Given the description of an element on the screen output the (x, y) to click on. 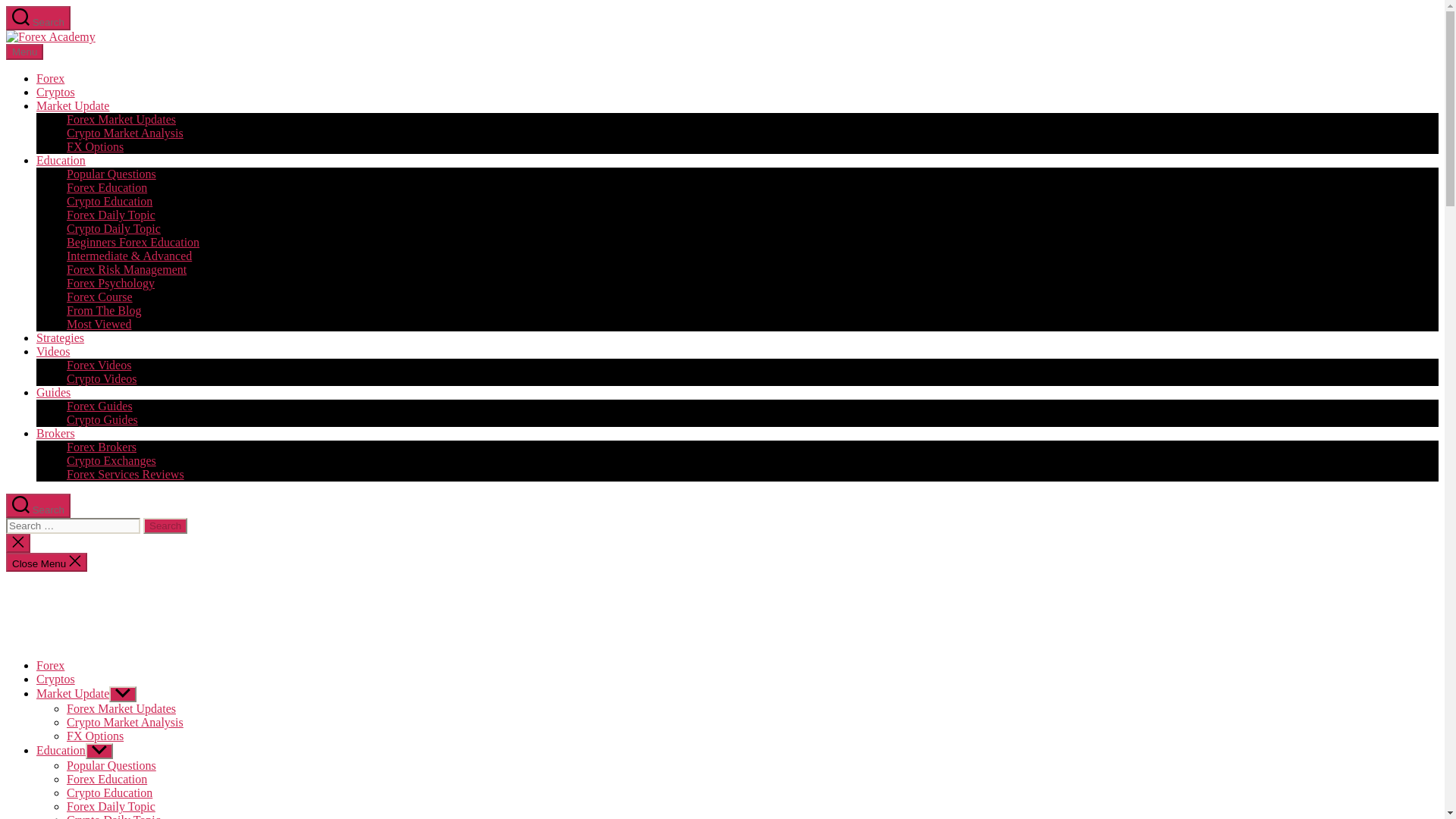
Education (60, 160)
Menu (24, 51)
Forex Psychology (110, 282)
Forex Course (99, 296)
Videos (52, 350)
Close search (17, 542)
Forex Education (106, 187)
Forex Brokers (101, 446)
Guides (52, 391)
Most Viewed (98, 323)
Cryptos (55, 678)
Crypto Daily Topic (113, 228)
Forex Market Updates (121, 119)
Close Menu (46, 561)
Crypto Videos (101, 378)
